Given the description of an element on the screen output the (x, y) to click on. 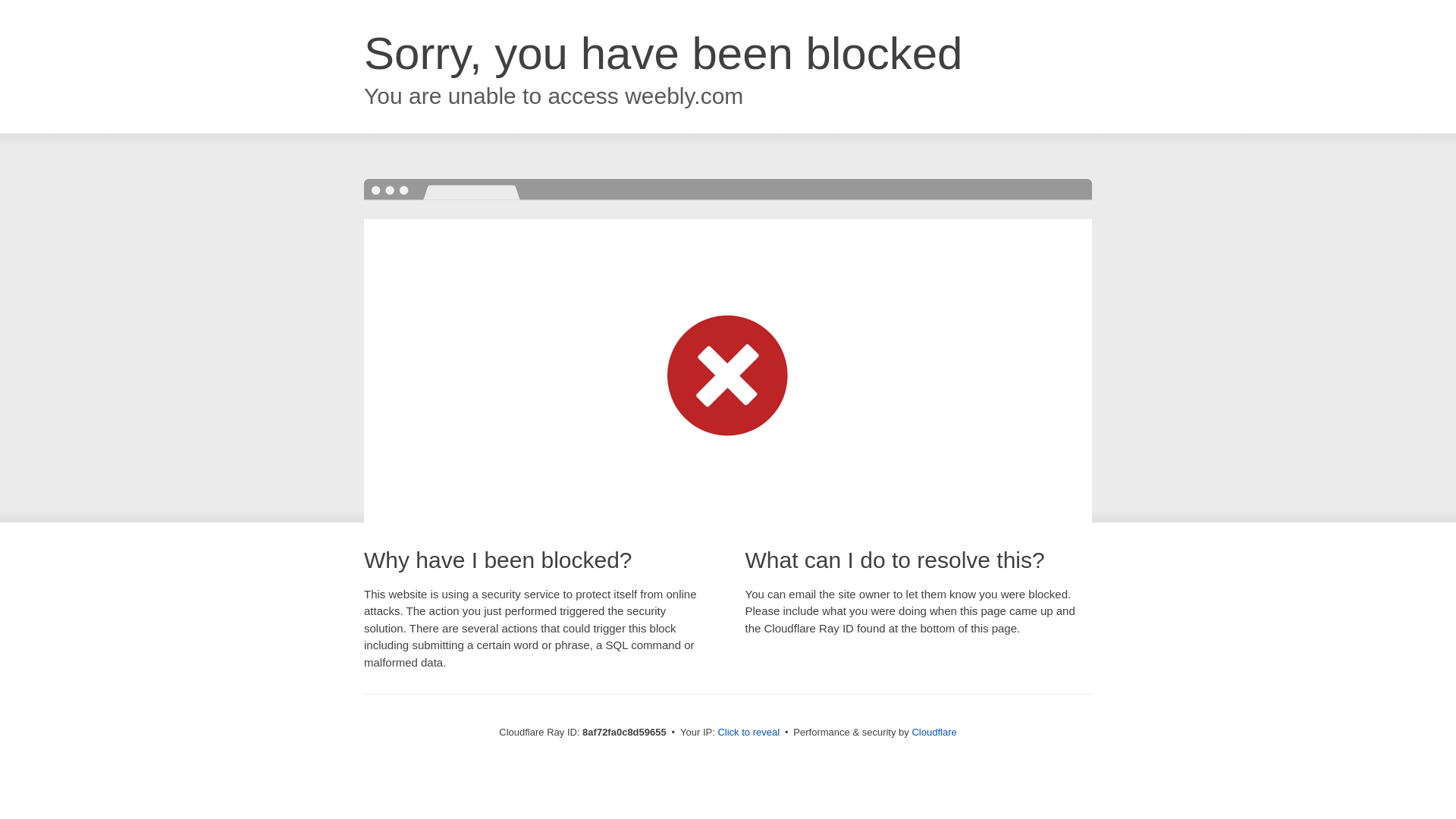
Cloudflare (933, 731)
Click to reveal (747, 732)
